Given the description of an element on the screen output the (x, y) to click on. 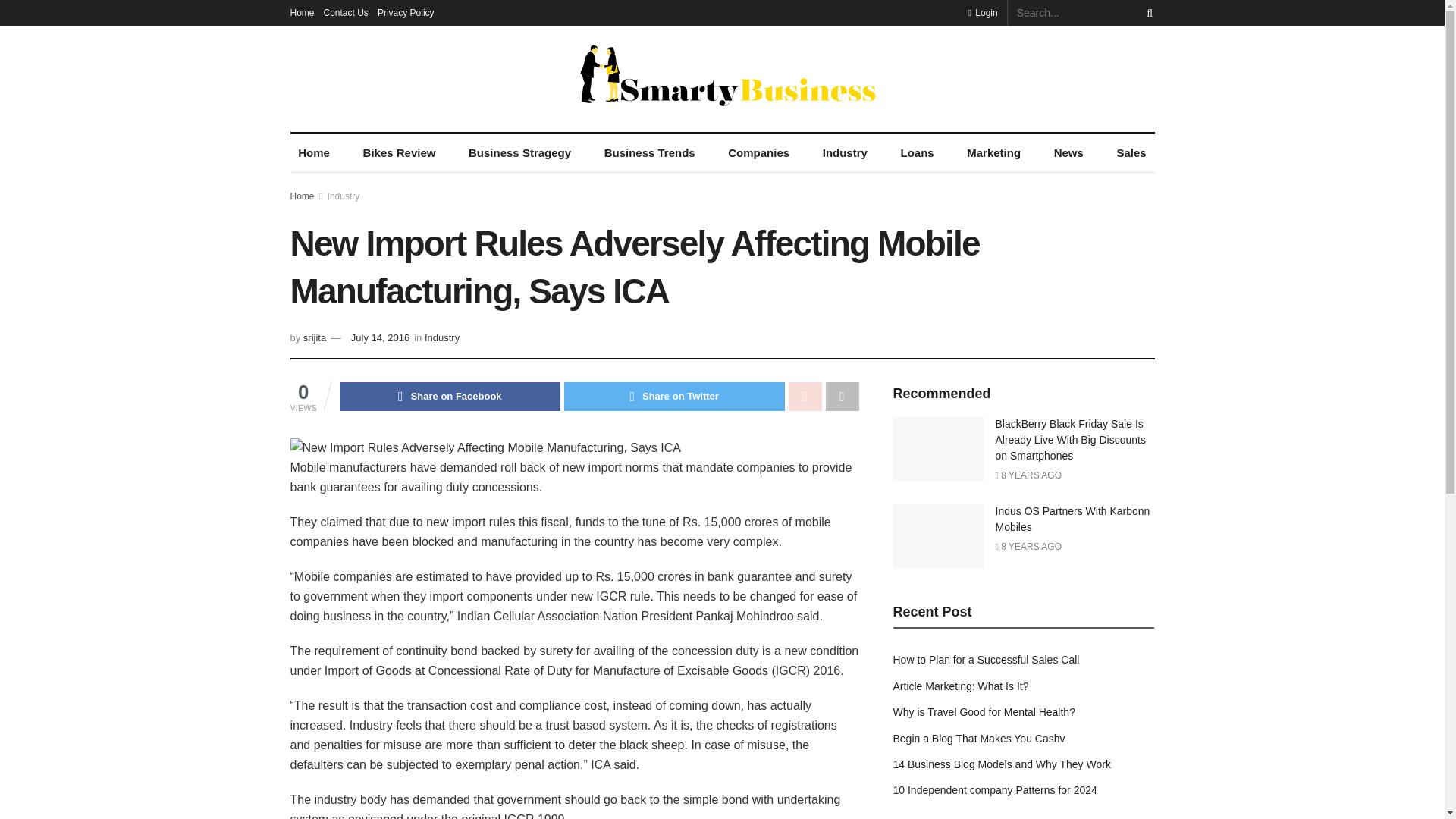
Home (301, 195)
Business Stragegy (519, 152)
Sales (1131, 152)
srijita (314, 337)
Bikes Review (399, 152)
Industry (343, 195)
Business Trends (649, 152)
Login (982, 12)
Share on Facebook (449, 396)
